Given the description of an element on the screen output the (x, y) to click on. 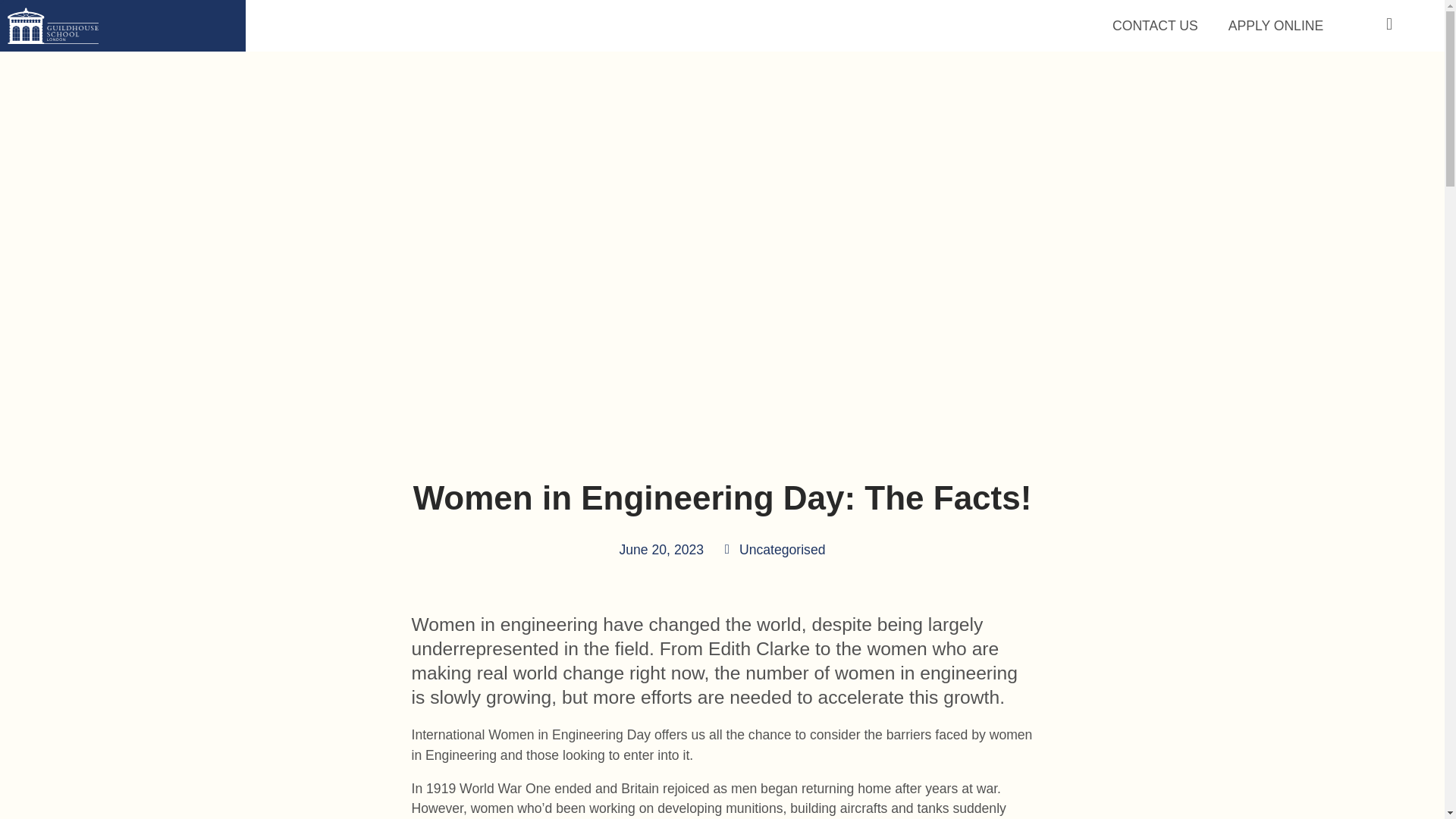
Uncategorised (792, 25)
APPLY ONLINE (782, 549)
June 20, 2023 (1275, 25)
CONTACT US (660, 549)
